Given the description of an element on the screen output the (x, y) to click on. 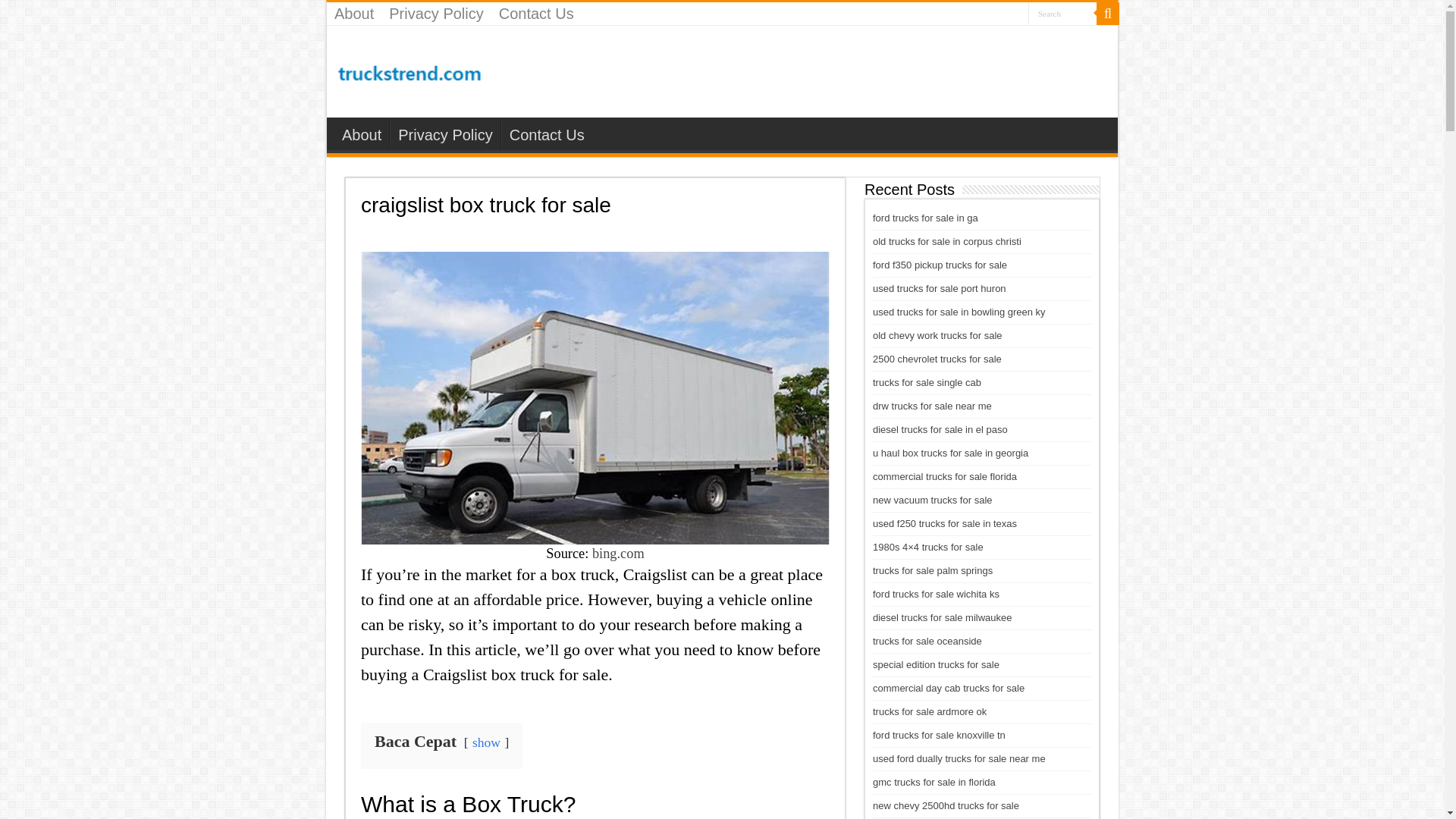
Privacy Policy (444, 133)
About (361, 133)
Search (1061, 13)
show (485, 742)
Search (1107, 13)
Contact Us (536, 13)
Search (1061, 13)
bing.com (618, 553)
Privacy Policy (435, 13)
About (353, 13)
Search (1061, 13)
truckstrend.com (409, 70)
Contact Us (546, 133)
